Given the description of an element on the screen output the (x, y) to click on. 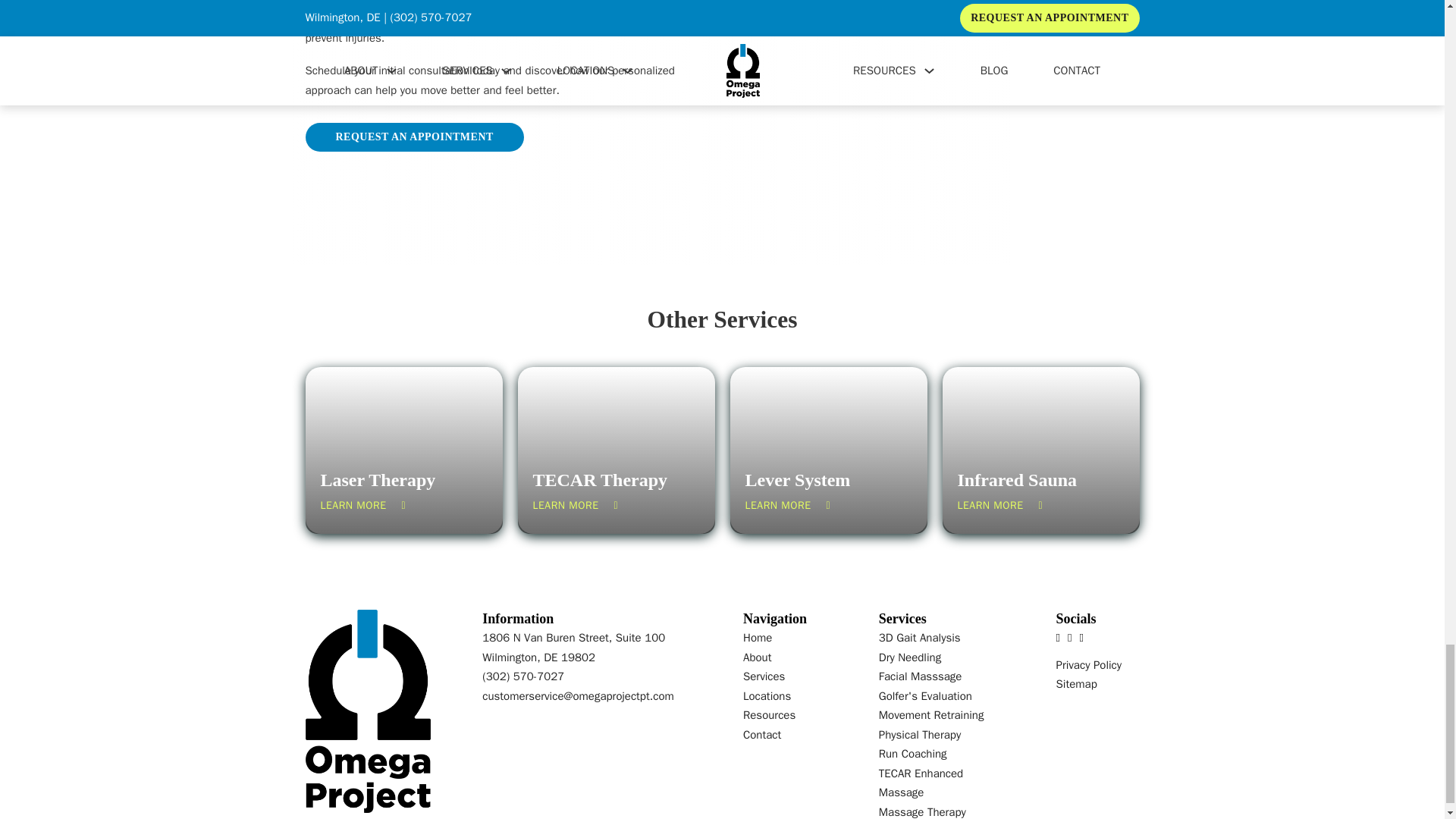
LEARN MORE (574, 505)
REQUEST AN APPOINTMENT (413, 136)
LEARN MORE (363, 505)
LEARN MORE (786, 505)
